Given the description of an element on the screen output the (x, y) to click on. 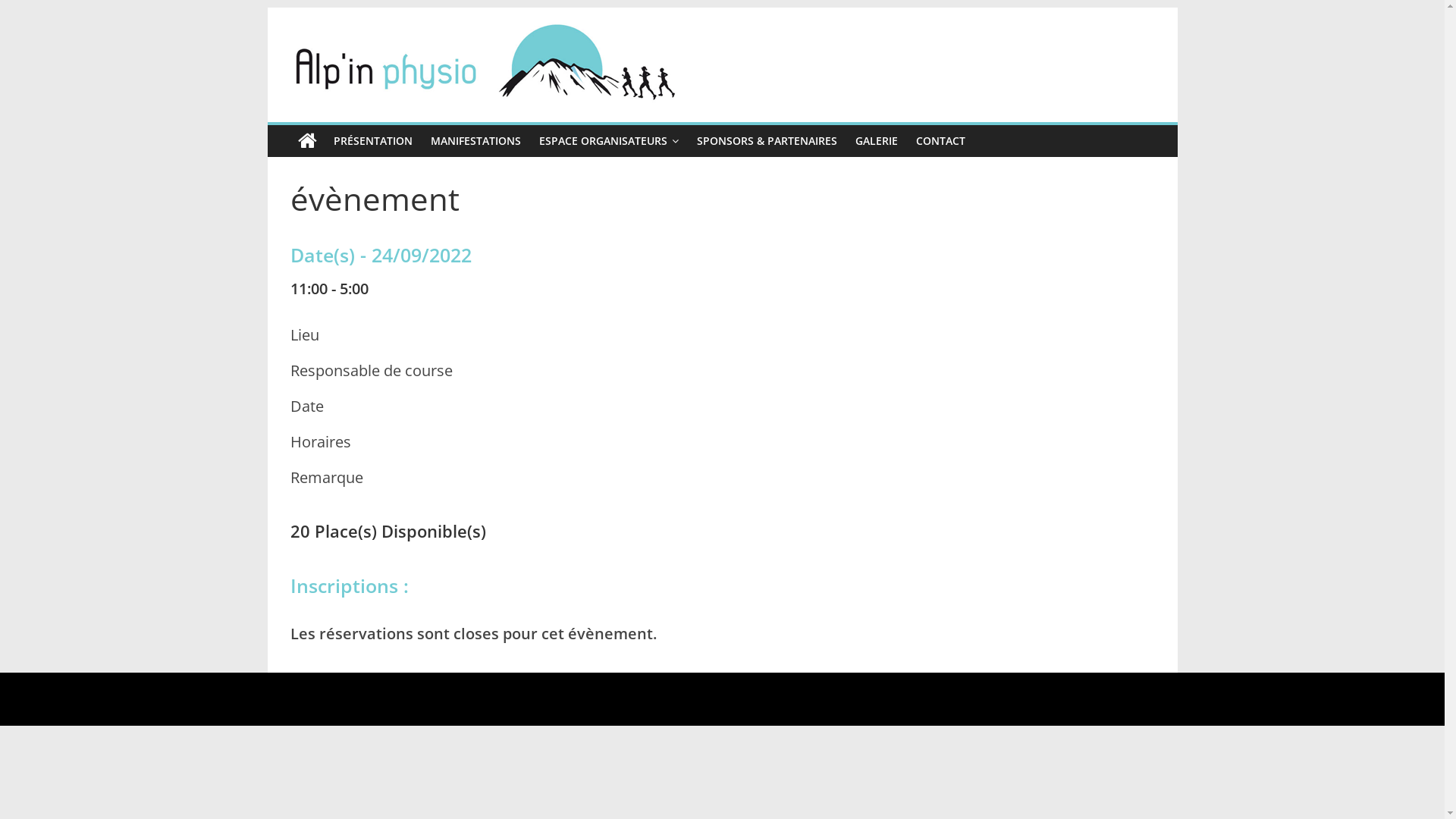
ESPACE ORGANISATEURS Element type: text (608, 140)
SPONSORS & PARTENAIRES Element type: text (766, 140)
GALERIE Element type: text (876, 140)
MANIFESTATIONS Element type: text (475, 140)
Alpinphysio Element type: hover (306, 140)
CONTACT Element type: text (940, 140)
